Given the description of an element on the screen output the (x, y) to click on. 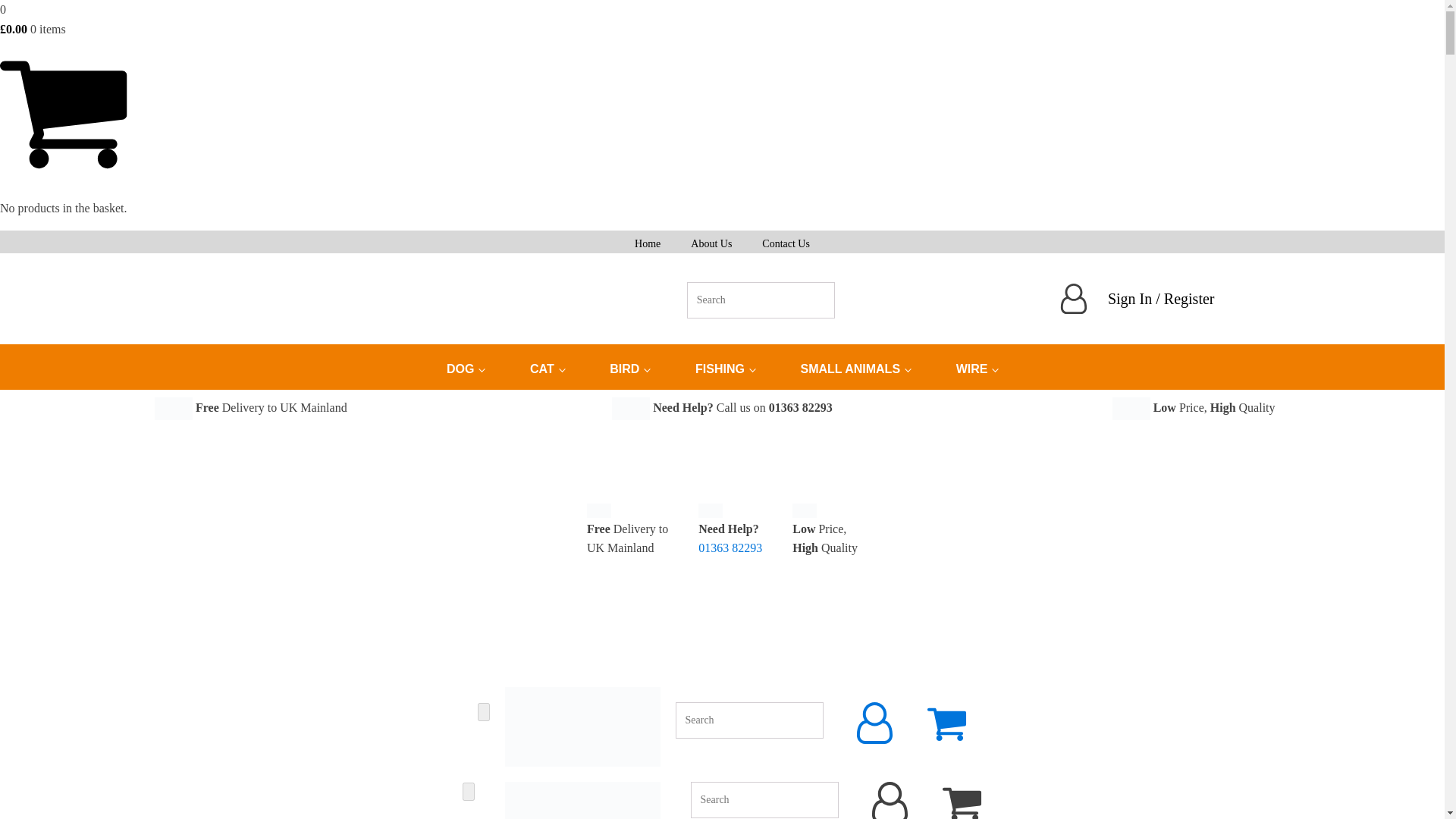
About Us (710, 241)
CAT (546, 368)
BIRD (629, 368)
Home (647, 241)
Contact Us (785, 241)
DOG (464, 368)
FISHING (724, 368)
